Given the description of an element on the screen output the (x, y) to click on. 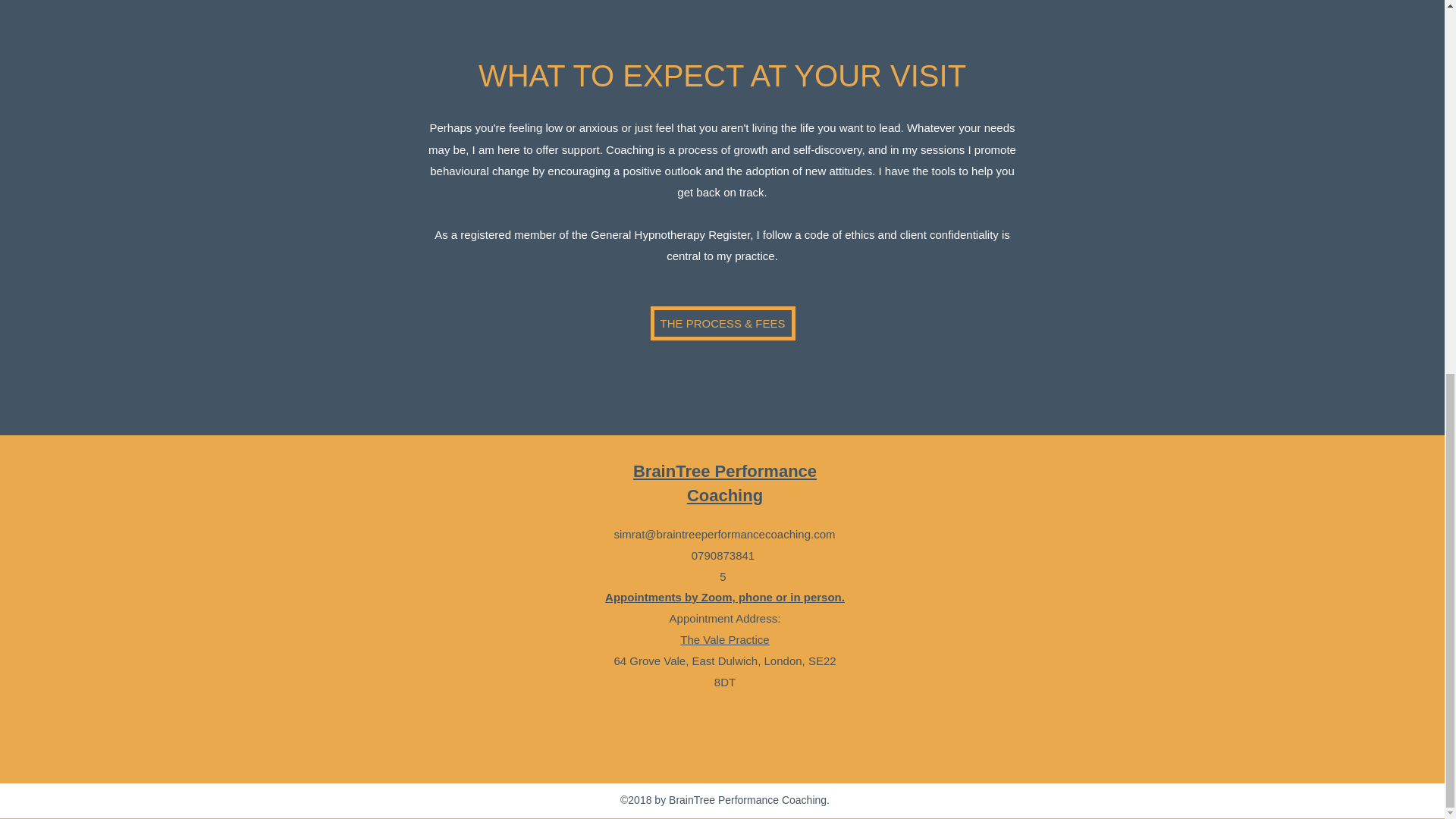
BrainTree Performance Coaching (724, 482)
The Vale Practice (723, 639)
